Given the description of an element on the screen output the (x, y) to click on. 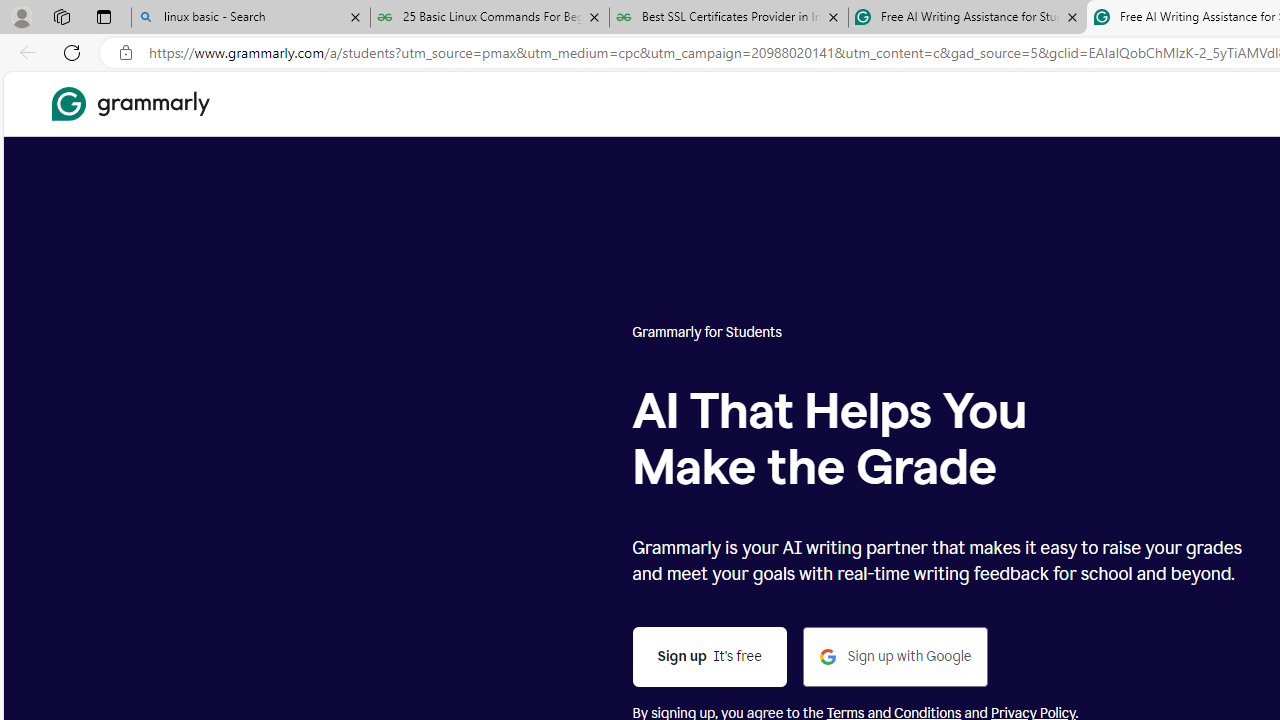
Sign up with Google (895, 657)
Grammarly Home (130, 103)
Best SSL Certificates Provider in India - GeeksforGeeks (729, 17)
Grammarly Home (130, 103)
25 Basic Linux Commands For Beginners - GeeksforGeeks (490, 17)
Free AI Writing Assistance for Students | Grammarly (967, 17)
linux basic - Search (250, 17)
